Given the description of an element on the screen output the (x, y) to click on. 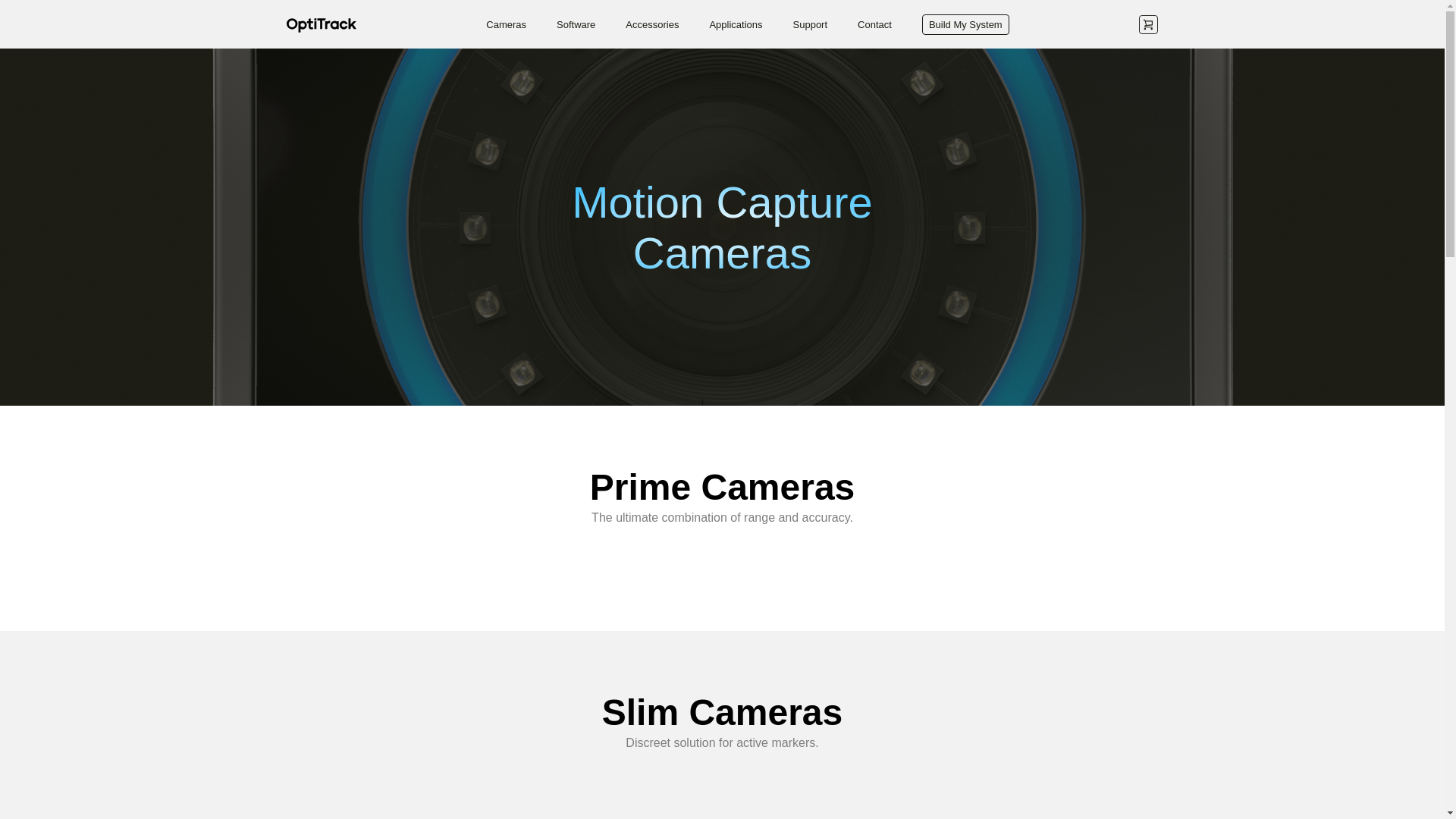
Contact (874, 23)
Build My System (965, 23)
Applications (735, 23)
Support (810, 23)
Cameras (505, 23)
Software (575, 23)
Accessories (652, 23)
